Given the description of an element on the screen output the (x, y) to click on. 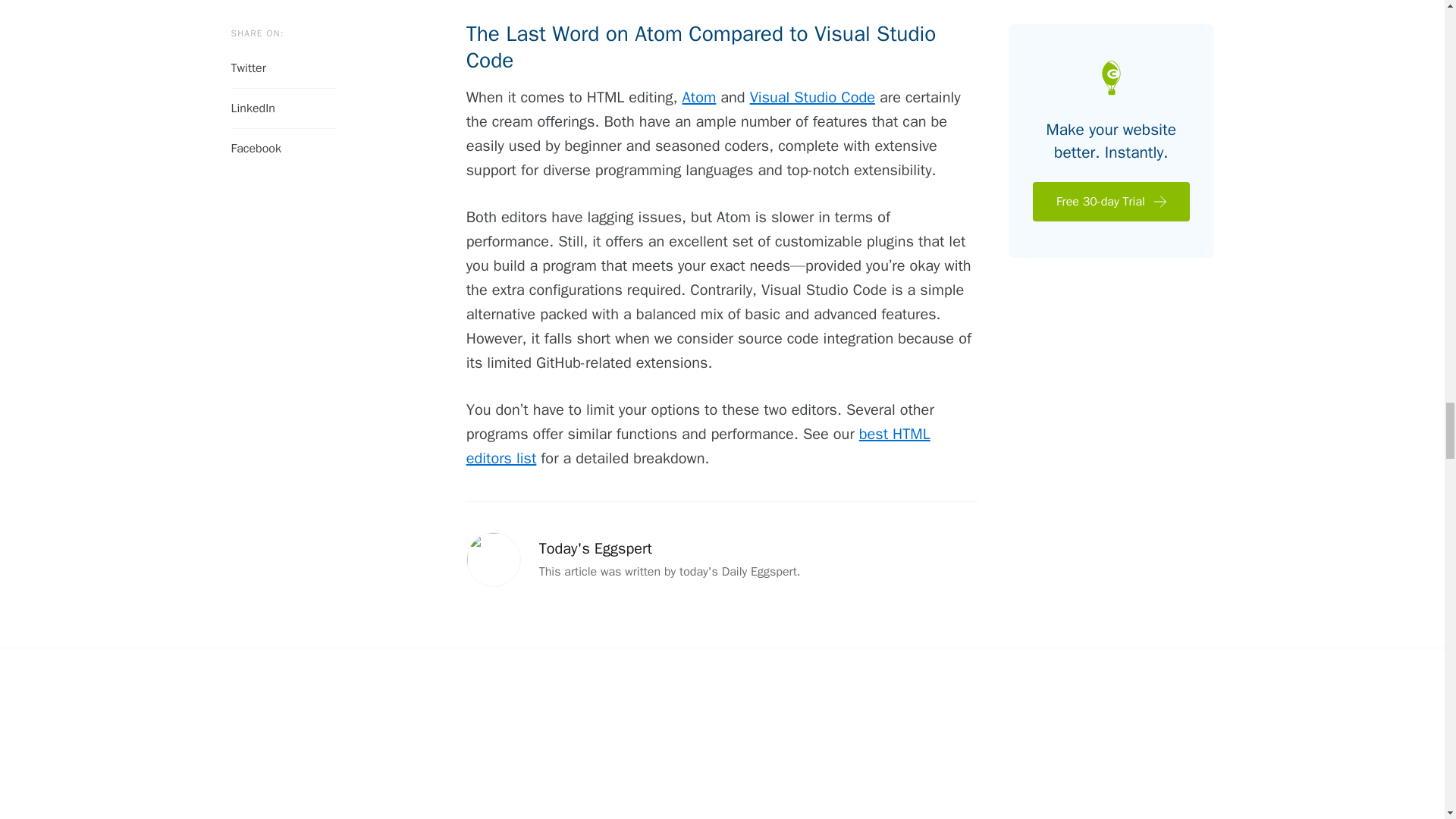
best HTML editors list (697, 446)
Visual Studio Code (812, 97)
Today's Eggspert (595, 547)
Atom (699, 97)
